Given the description of an element on the screen output the (x, y) to click on. 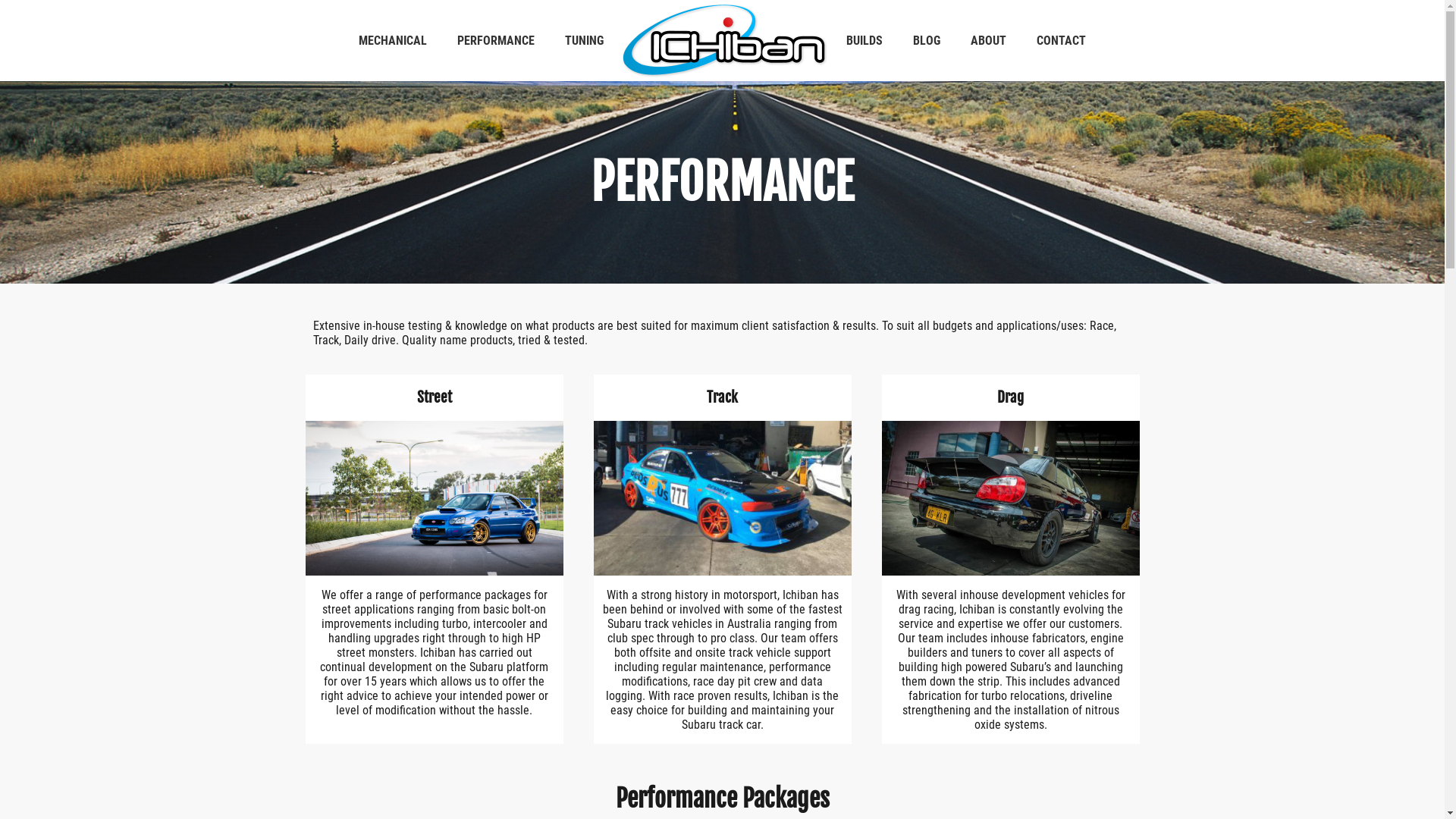
BLOG Element type: text (926, 40)
MECHANICAL Element type: text (392, 40)
BUILDS Element type: text (864, 40)
ABOUT Element type: text (988, 40)
TUNING Element type: text (583, 40)
CONTACT Element type: text (1060, 40)
PERFORMANCE Element type: text (495, 40)
